Given the description of an element on the screen output the (x, y) to click on. 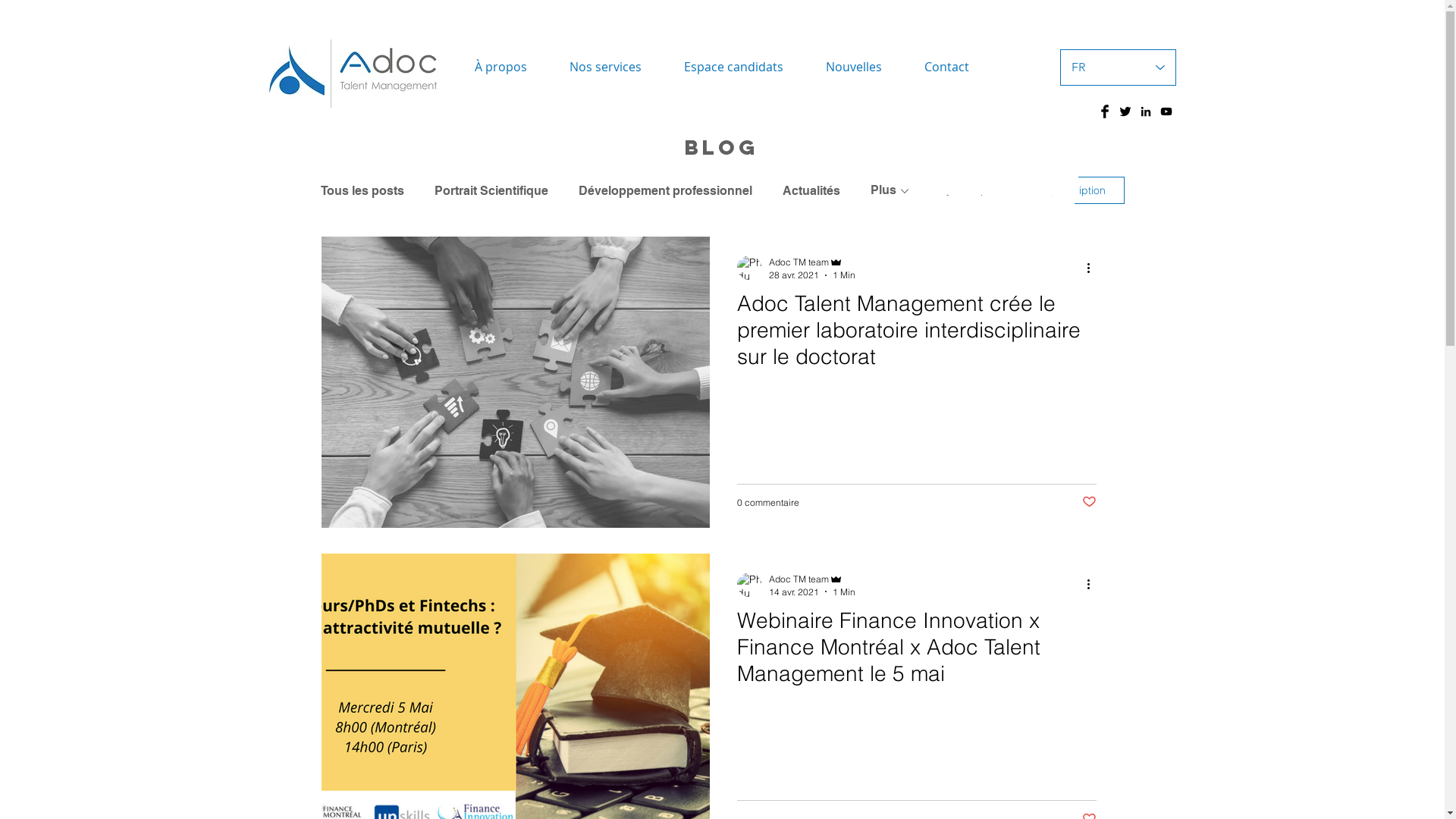
Adoc TM team Element type: text (811, 578)
Adoc TM team Element type: text (811, 261)
Portrait Scientifique Element type: text (490, 190)
Tous les posts Element type: text (361, 190)
Connexion/Inscription Element type: text (1052, 189)
Contact Element type: text (945, 66)
Vous n'aimez plus ce post Element type: text (1088, 502)
0 commentaire Element type: text (768, 502)
Espace candidats Element type: text (733, 66)
